Given the description of an element on the screen output the (x, y) to click on. 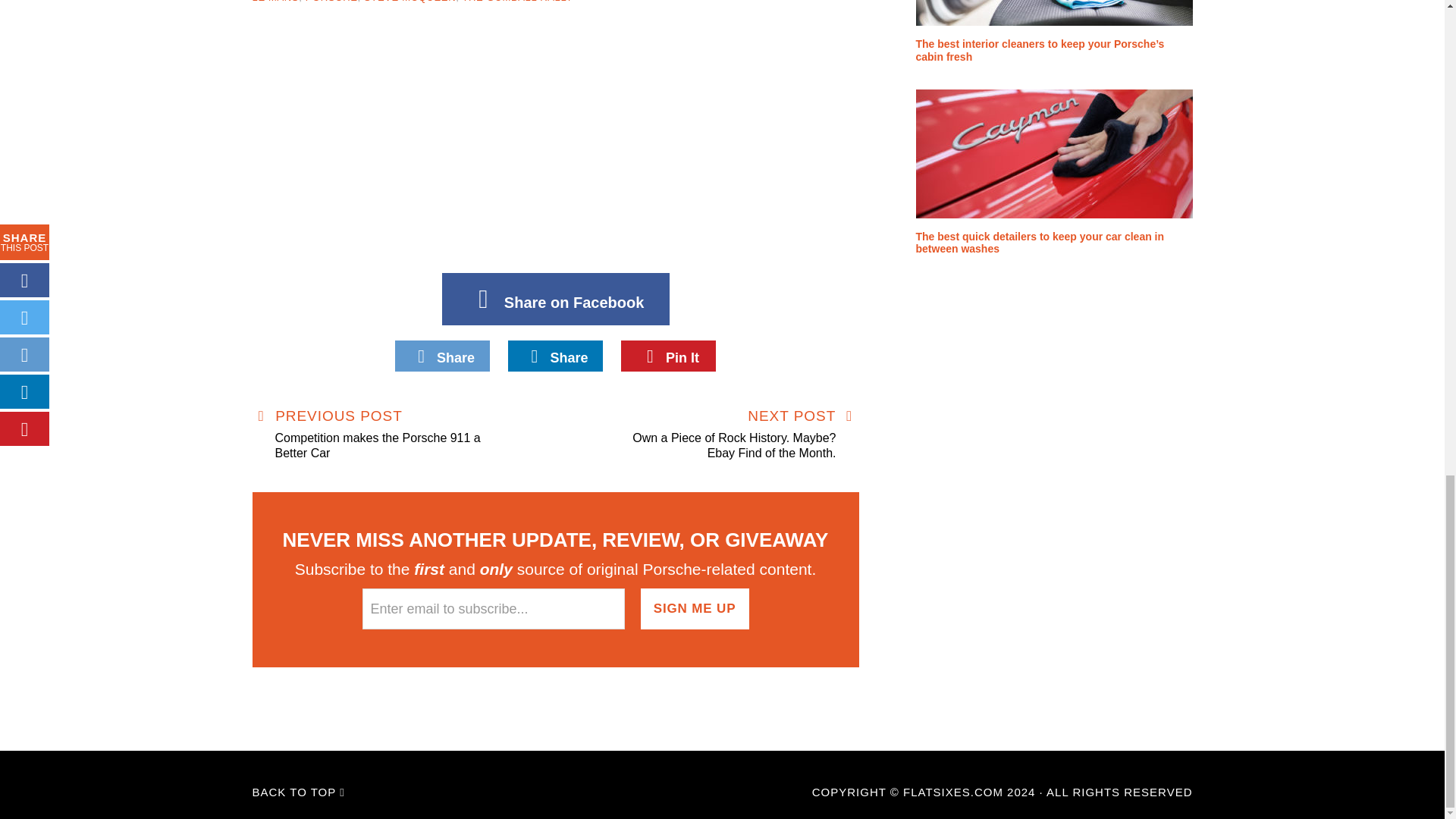
SIGN ME UP (694, 608)
Advertisement (555, 143)
